Given the description of an element on the screen output the (x, y) to click on. 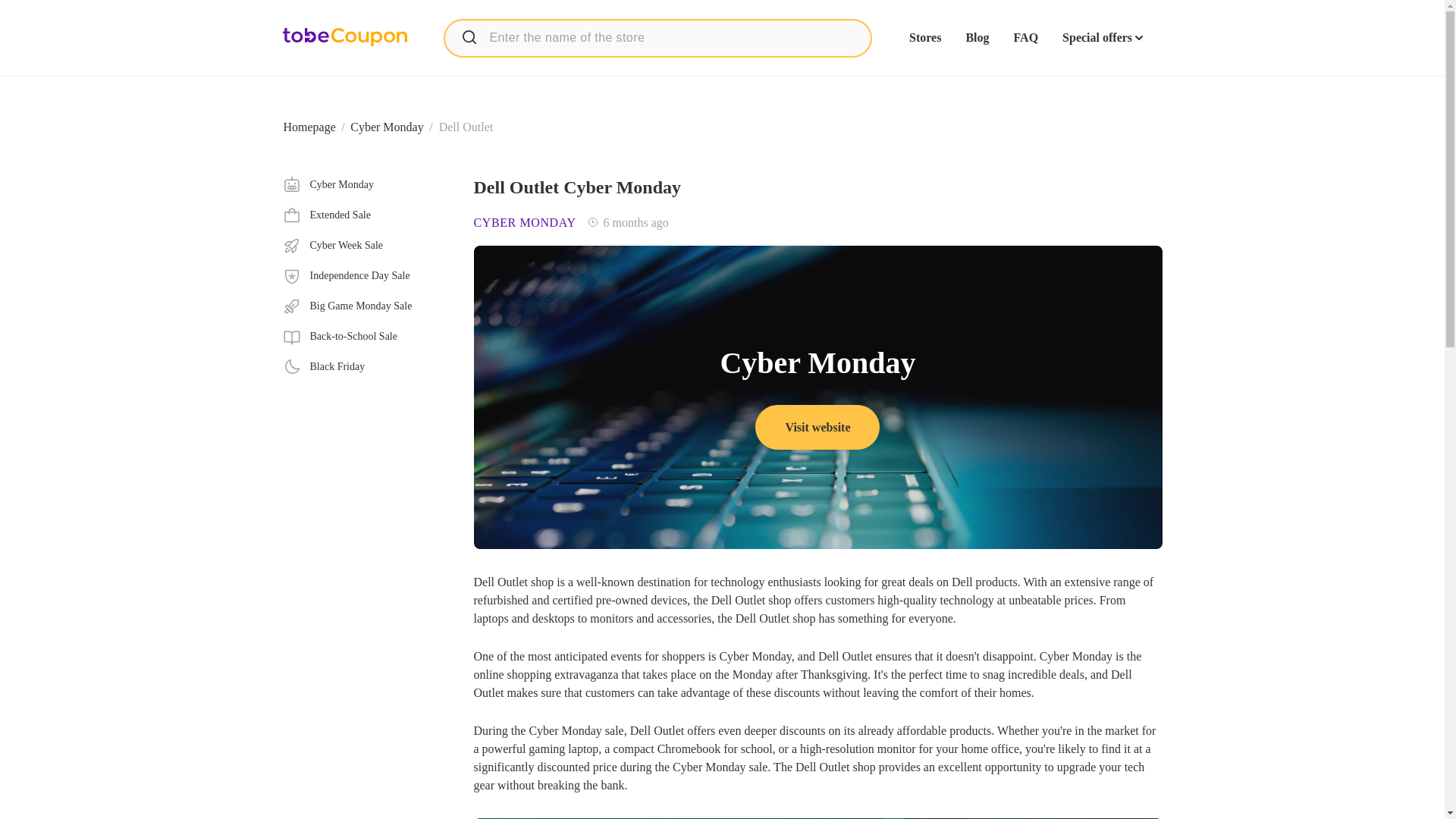
Blog (976, 37)
FAQ (1025, 37)
Search (365, 185)
Cyber Monday (469, 37)
Black Friday (386, 126)
Visit website (365, 366)
Independence Day Sale (817, 426)
Cyber Week Sale (365, 275)
